Given the description of an element on the screen output the (x, y) to click on. 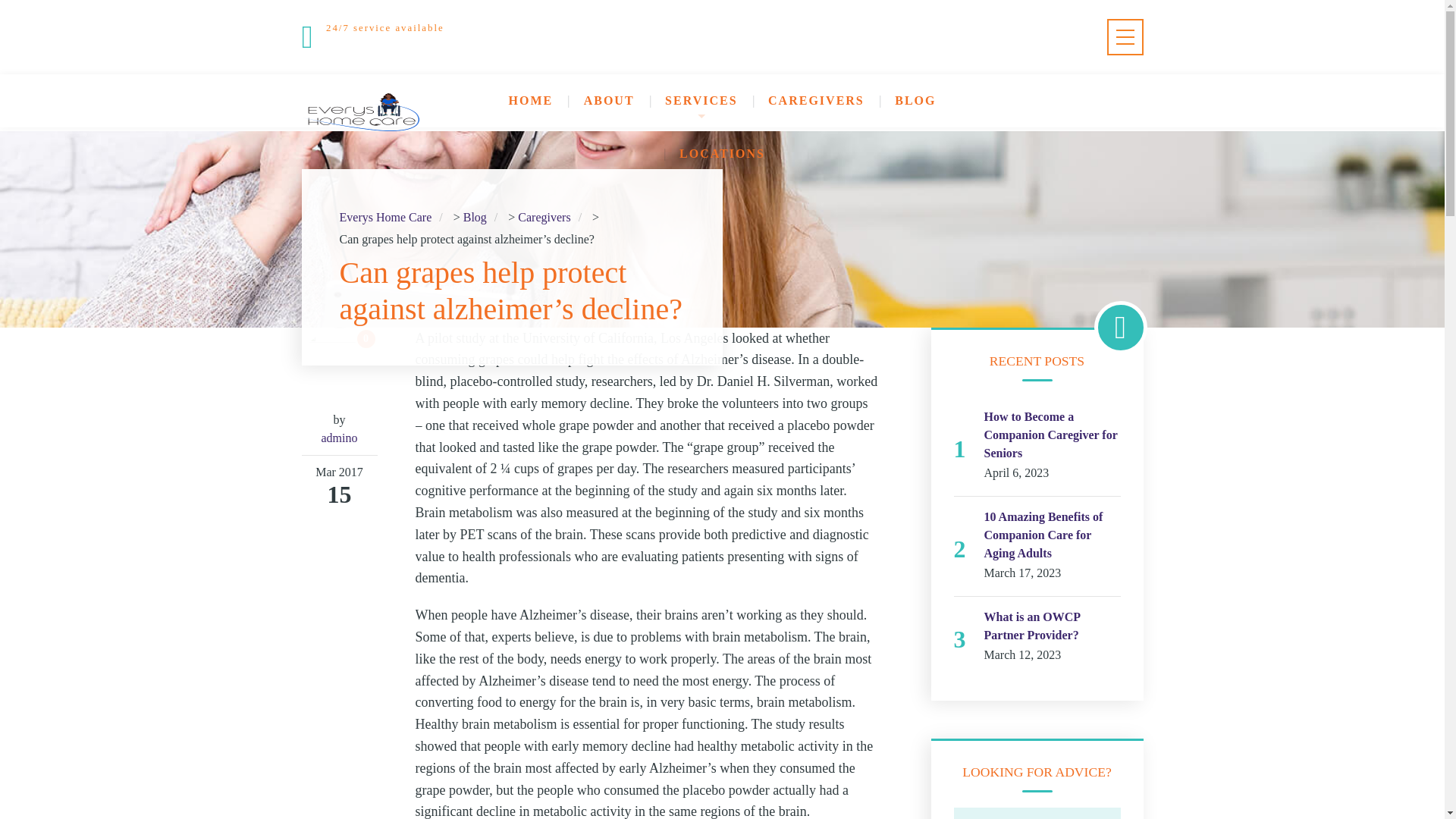
HOME (530, 100)
BLOG (915, 100)
LOCATIONS (722, 153)
SERVICES (700, 100)
Posts by admino (339, 437)
Go to the Caregivers Category archives. (544, 218)
CAREGIVERS (816, 100)
ABOUT (608, 100)
Go to Blog. (474, 218)
Go to Everys Home Care. (385, 218)
